Given the description of an element on the screen output the (x, y) to click on. 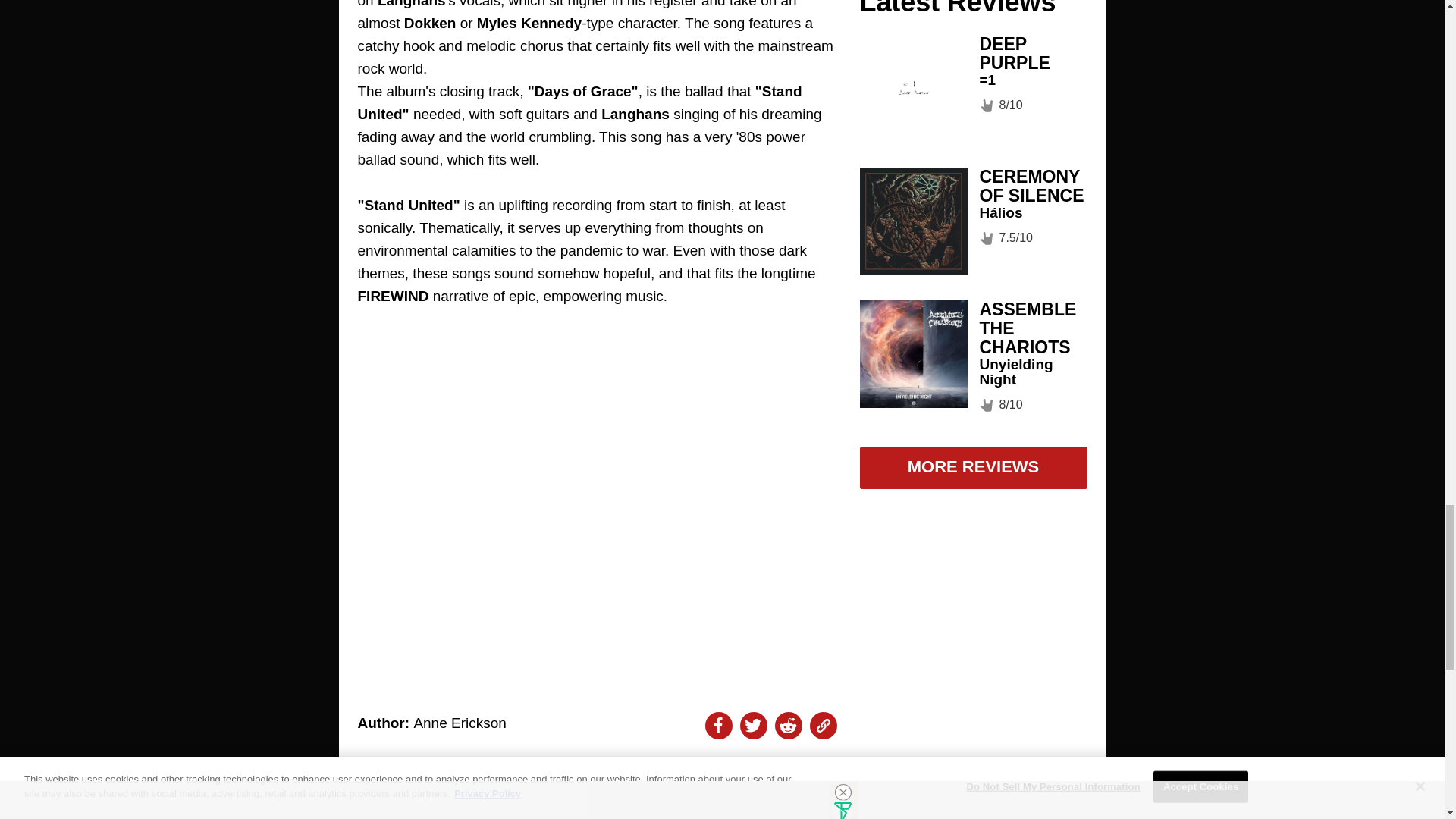
Copy To Clipboard (823, 725)
Share On Facebook (718, 725)
MORE REVIEWS (597, 802)
Prev (388, 807)
YouTube video player (597, 495)
Share On Reddit (788, 725)
Share On Twitter (753, 725)
Next (805, 807)
